Given the description of an element on the screen output the (x, y) to click on. 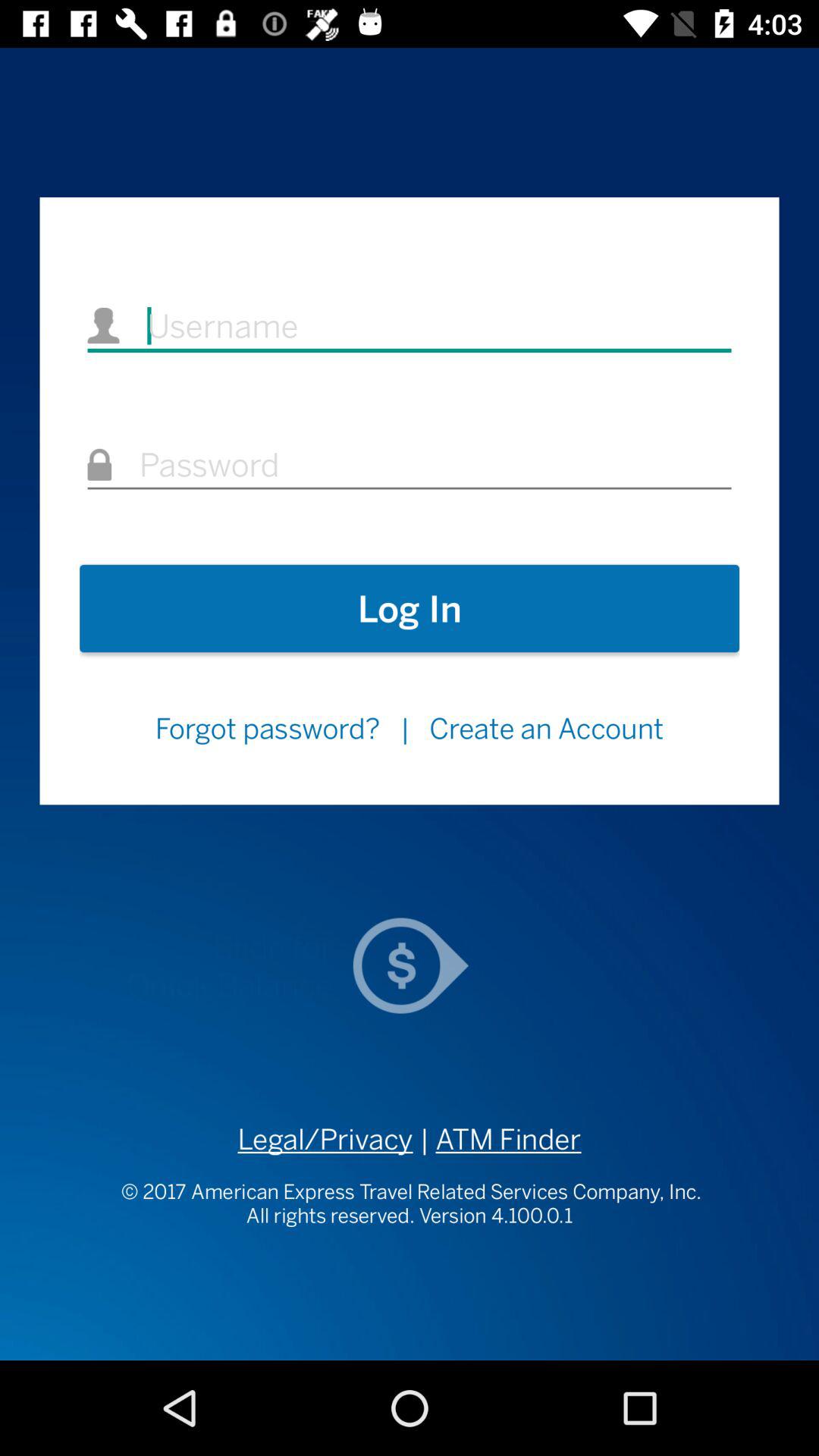
open password field (409, 465)
